Given the description of an element on the screen output the (x, y) to click on. 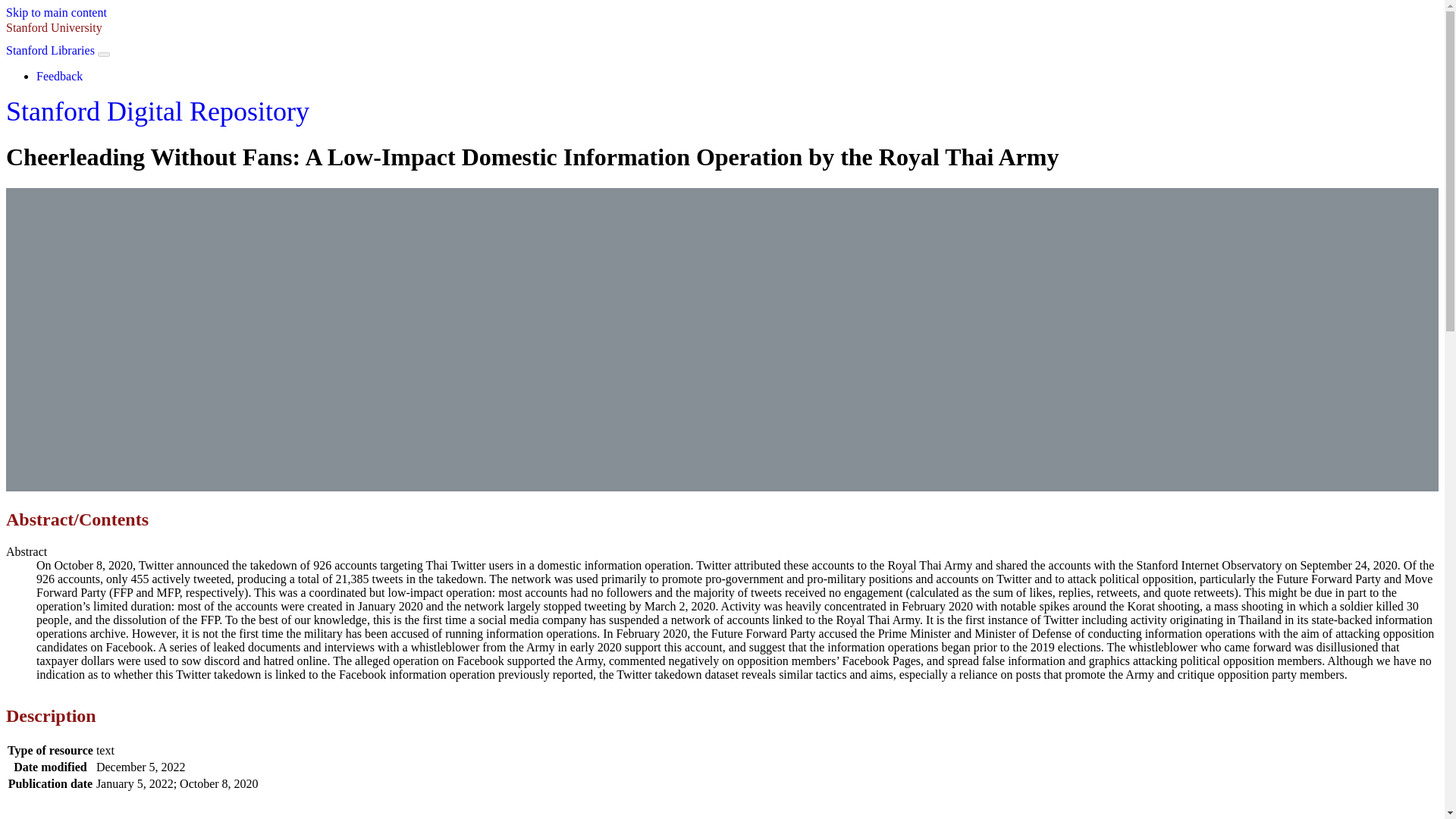
Stanford Libraries (49, 50)
Stanford Digital Repository (156, 111)
Feedback (59, 75)
Skip to main content (55, 11)
